Given the description of an element on the screen output the (x, y) to click on. 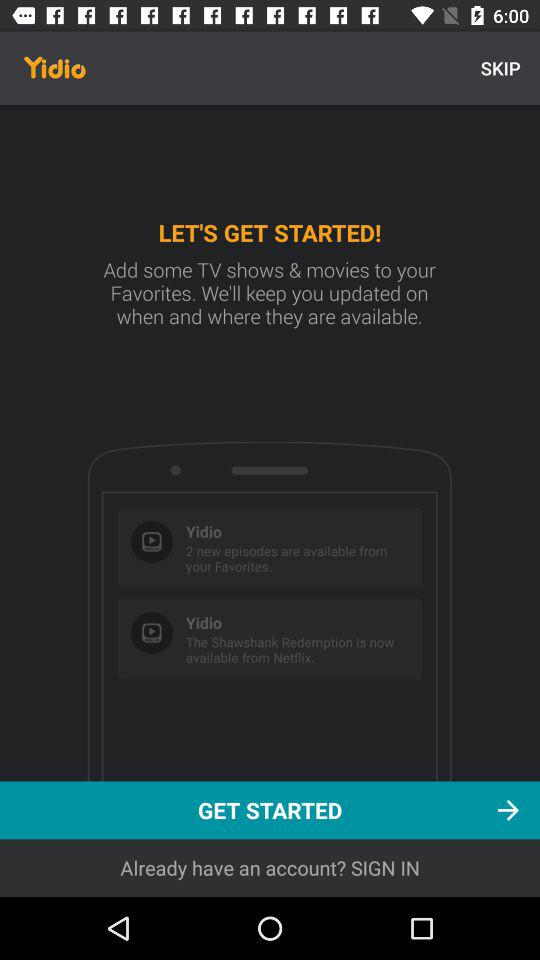
click the skip at the top right corner (500, 67)
